Given the description of an element on the screen output the (x, y) to click on. 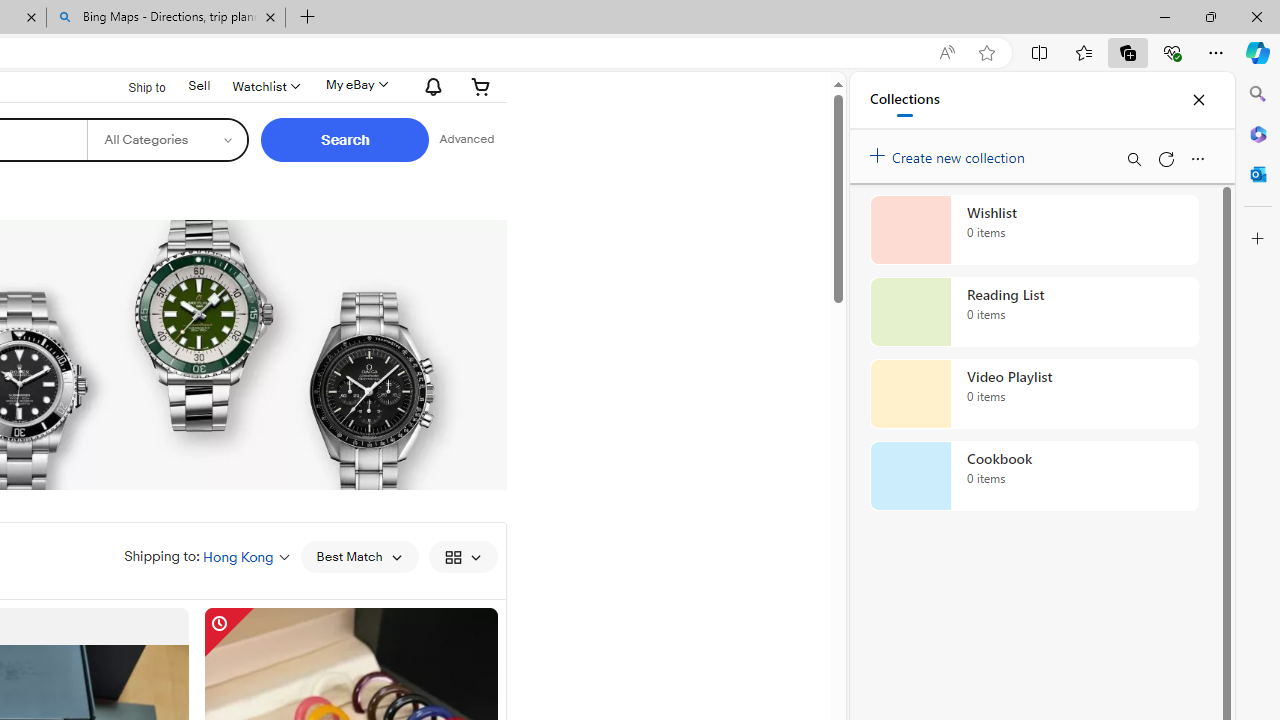
More options menu (1197, 158)
Ship to (134, 85)
Sort: Best Match (358, 556)
WatchlistExpand Watch List (264, 86)
Ship to (134, 87)
Wishlist collection, 0 items (1034, 229)
Sell (199, 86)
Video Playlist collection, 0 items (1034, 394)
Sell (199, 84)
Shipping to: Hong Kong (207, 556)
